Given the description of an element on the screen output the (x, y) to click on. 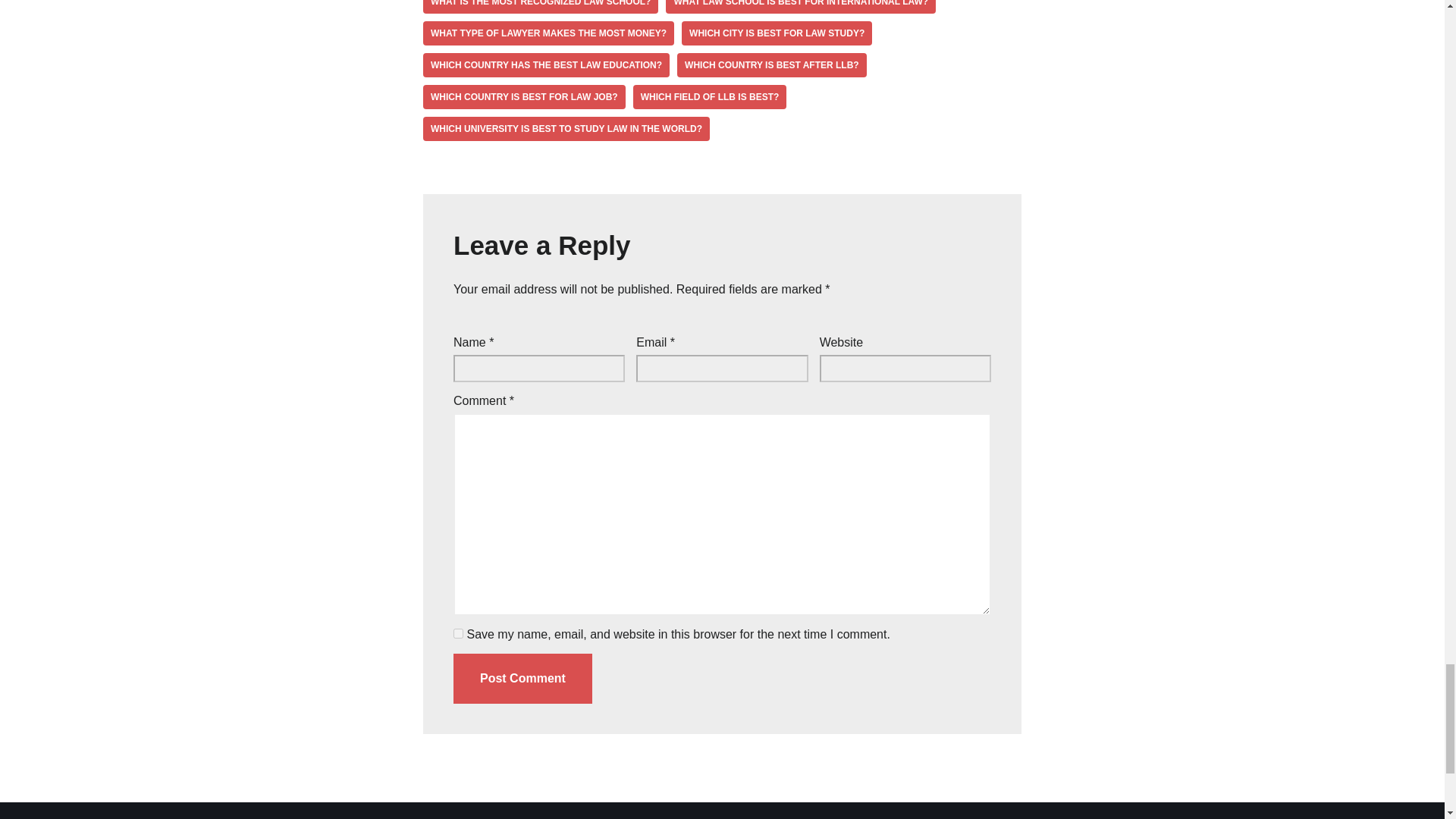
WHAT IS THE MOST RECOGNIZED LAW SCHOOL? (540, 6)
WHICH FIELD OF LLB IS BEST? (710, 96)
WHICH COUNTRY IS BEST FOR LAW JOB? (524, 96)
Which country is best for law job? (524, 96)
Post Comment (522, 678)
Which city is best for law study? (776, 33)
Which country has the best law education? (546, 64)
WHICH CITY IS BEST FOR LAW STUDY? (776, 33)
What type of lawyer makes the most money? (548, 33)
WHAT LAW SCHOOL IS BEST FOR INTERNATIONAL LAW? (800, 6)
